Given the description of an element on the screen output the (x, y) to click on. 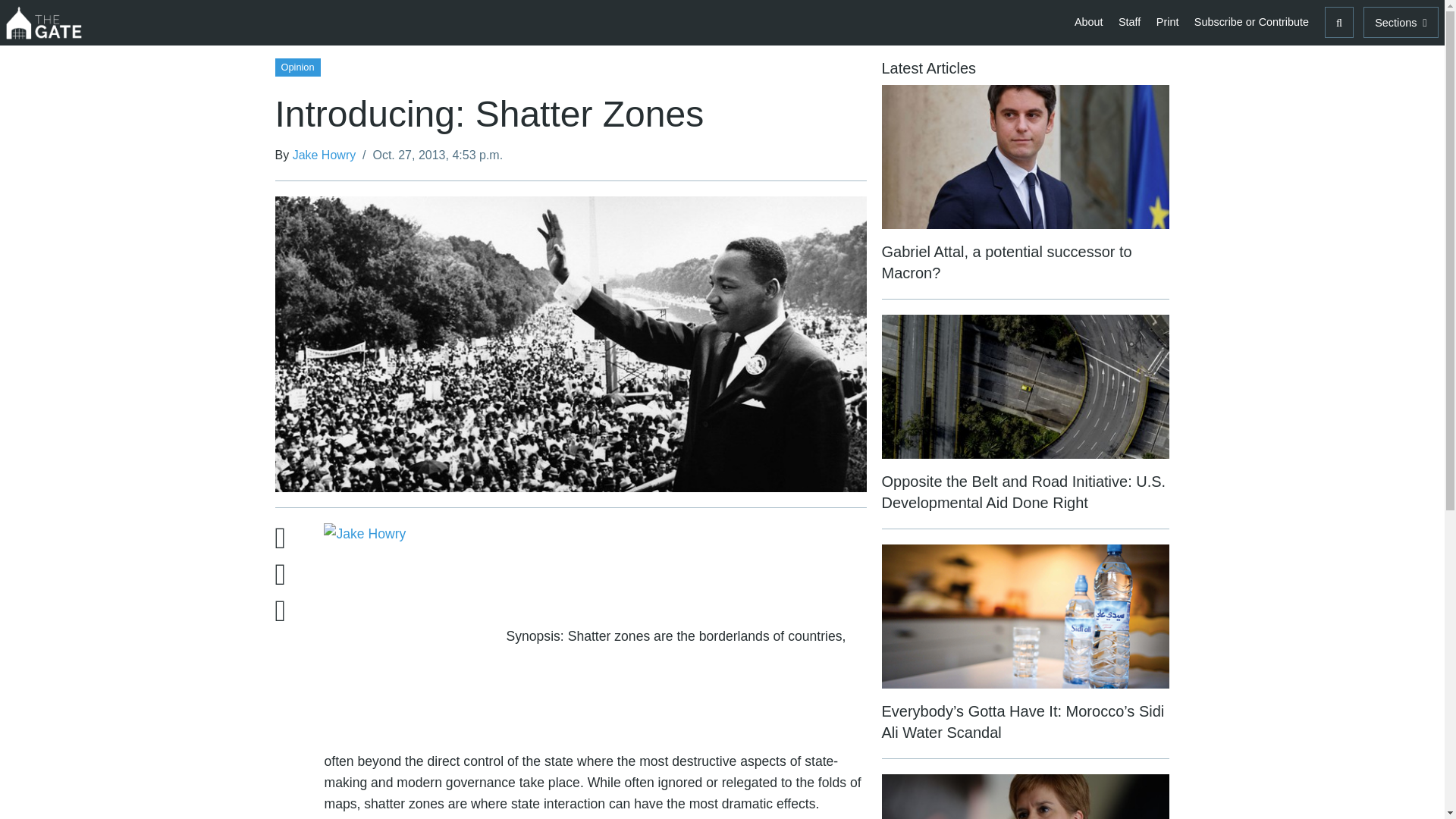
Staff (1129, 21)
Sections   (1400, 21)
Jake Howry (324, 154)
About (1088, 21)
Opinion (297, 65)
Subscribe or Contribute (1251, 21)
Print (1167, 21)
The swift demise of the cult of Nicola Sturgeon (1024, 796)
Gabriel Attal, a potential successor to Macron? (1024, 192)
